Given the description of an element on the screen output the (x, y) to click on. 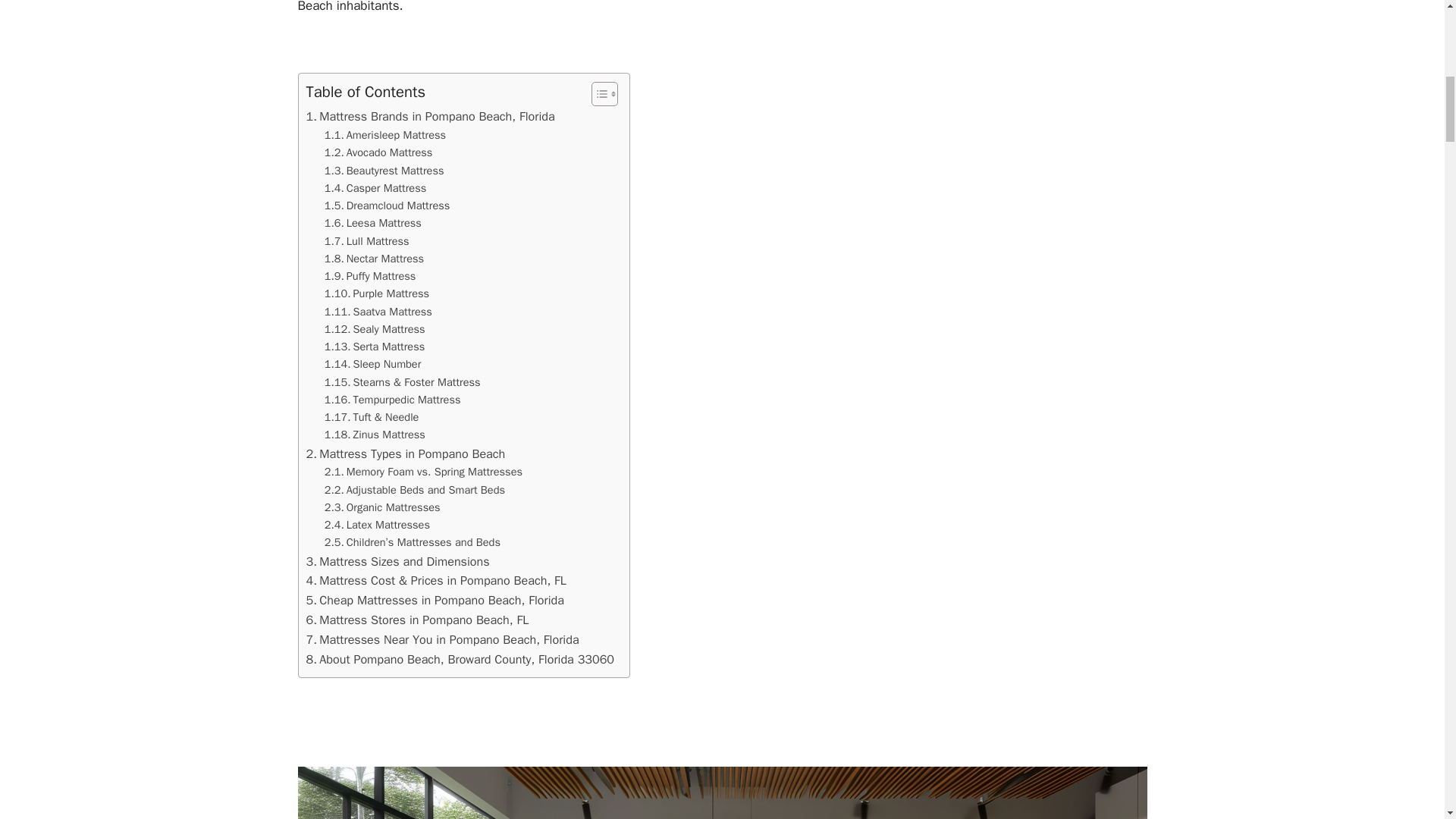
Casper Mattress (375, 188)
Puffy Mattress (370, 276)
Purple Mattress (376, 293)
Amerisleep Mattress (384, 135)
Dreamcloud Mattress (386, 205)
Sealy Mattress (374, 329)
Leesa Mattress (373, 222)
Saatva Mattress (378, 312)
Nectar Mattress (373, 258)
Avocado Mattress (378, 152)
